Given the description of an element on the screen output the (x, y) to click on. 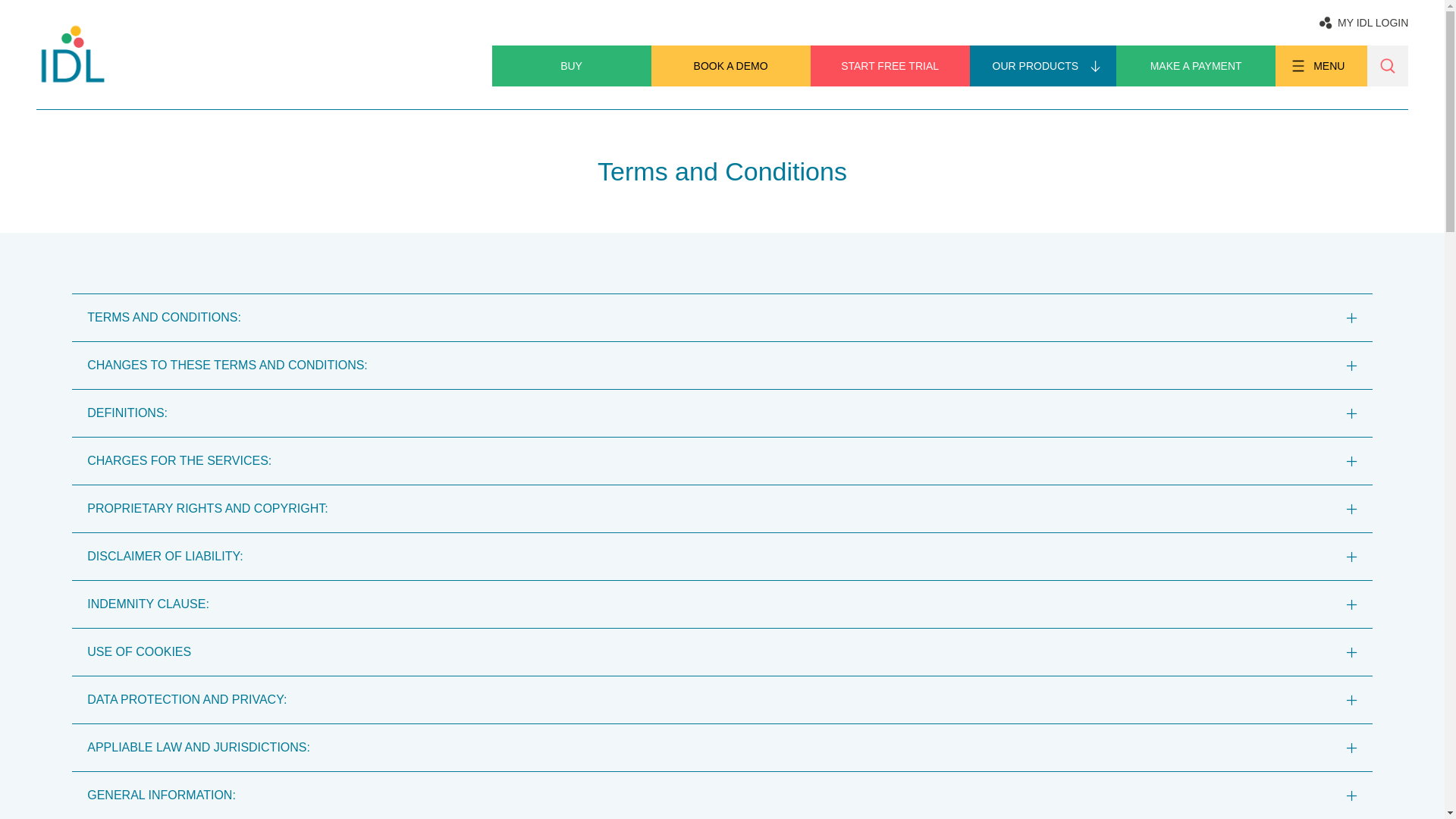
Link to book a demo page (730, 65)
BUY (571, 65)
MY IDL LOGIN (1363, 22)
Link to start a free trial page (889, 65)
MENU (1321, 65)
BOOK A DEMO (730, 65)
Link to buy page (571, 65)
MAKE A PAYMENT (1195, 65)
OUR PRODUCTS (1042, 65)
Link to make a payment page (1195, 65)
START FREE TRIAL (889, 65)
